Given the description of an element on the screen output the (x, y) to click on. 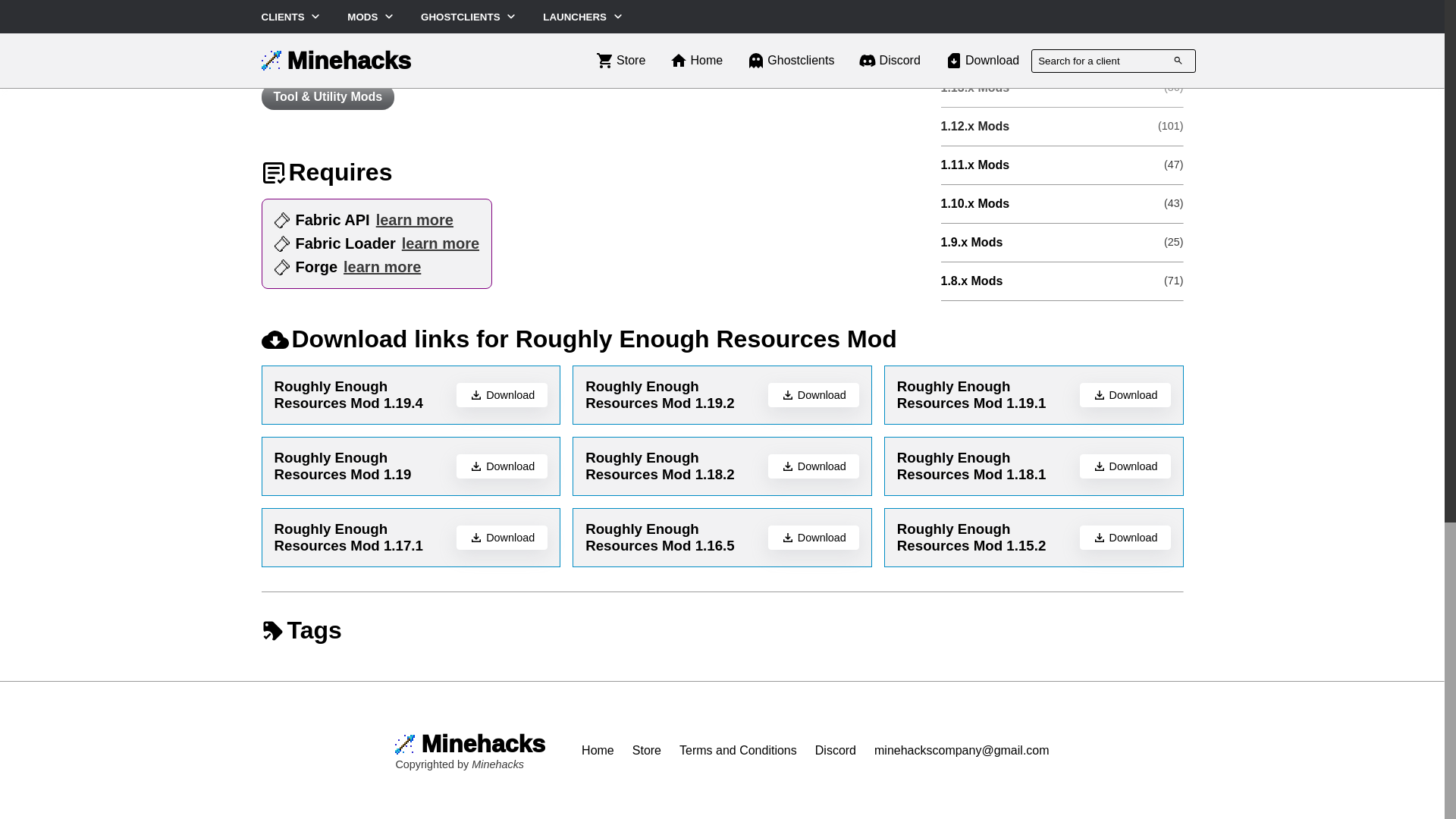
learn more (413, 220)
learn more (381, 267)
learn more (440, 243)
